Given the description of an element on the screen output the (x, y) to click on. 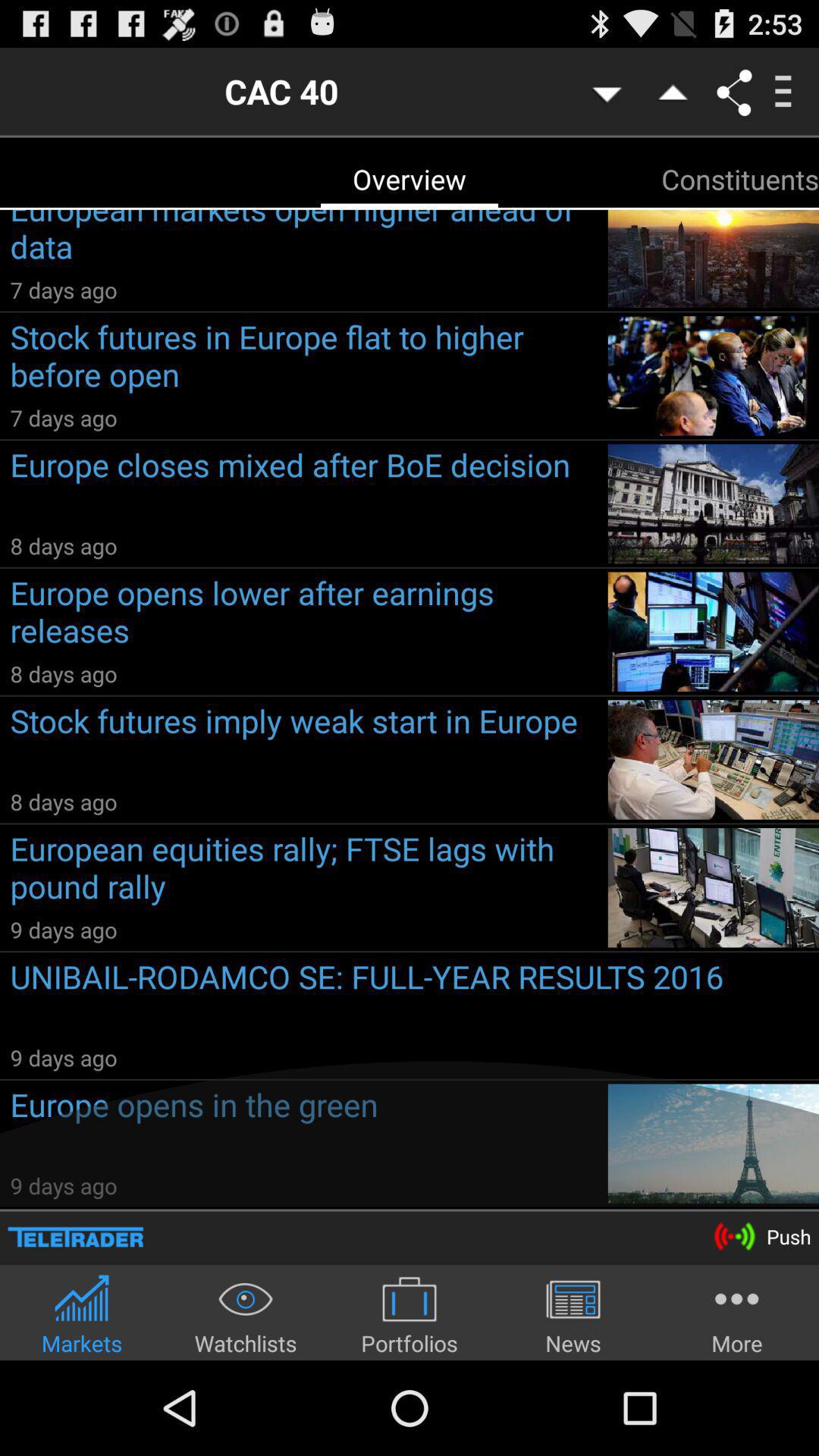
tap constituents icon (740, 178)
